Given the description of an element on the screen output the (x, y) to click on. 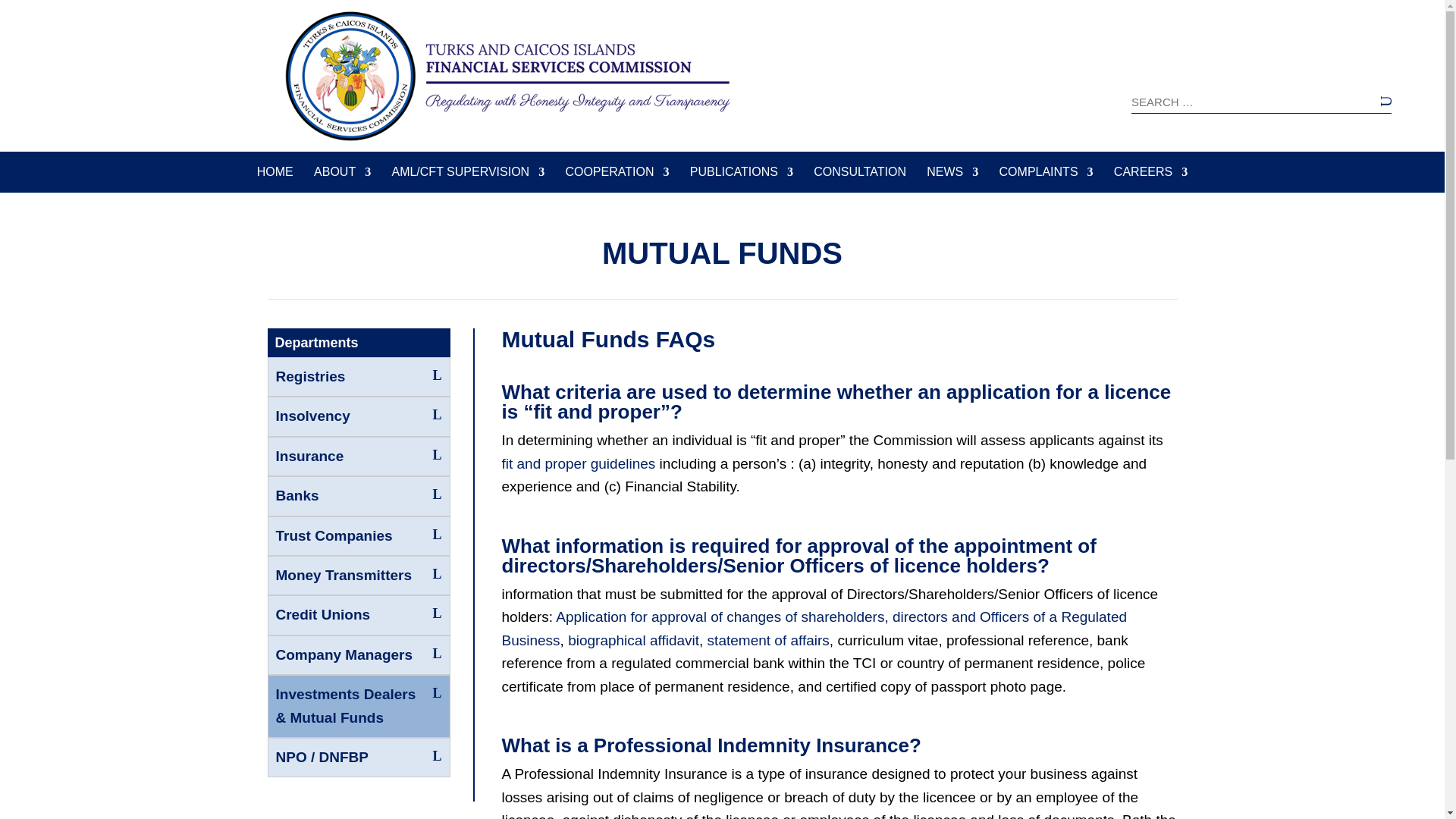
HOME (275, 179)
ABOUT (342, 179)
Search for: (1261, 101)
